Given the description of an element on the screen output the (x, y) to click on. 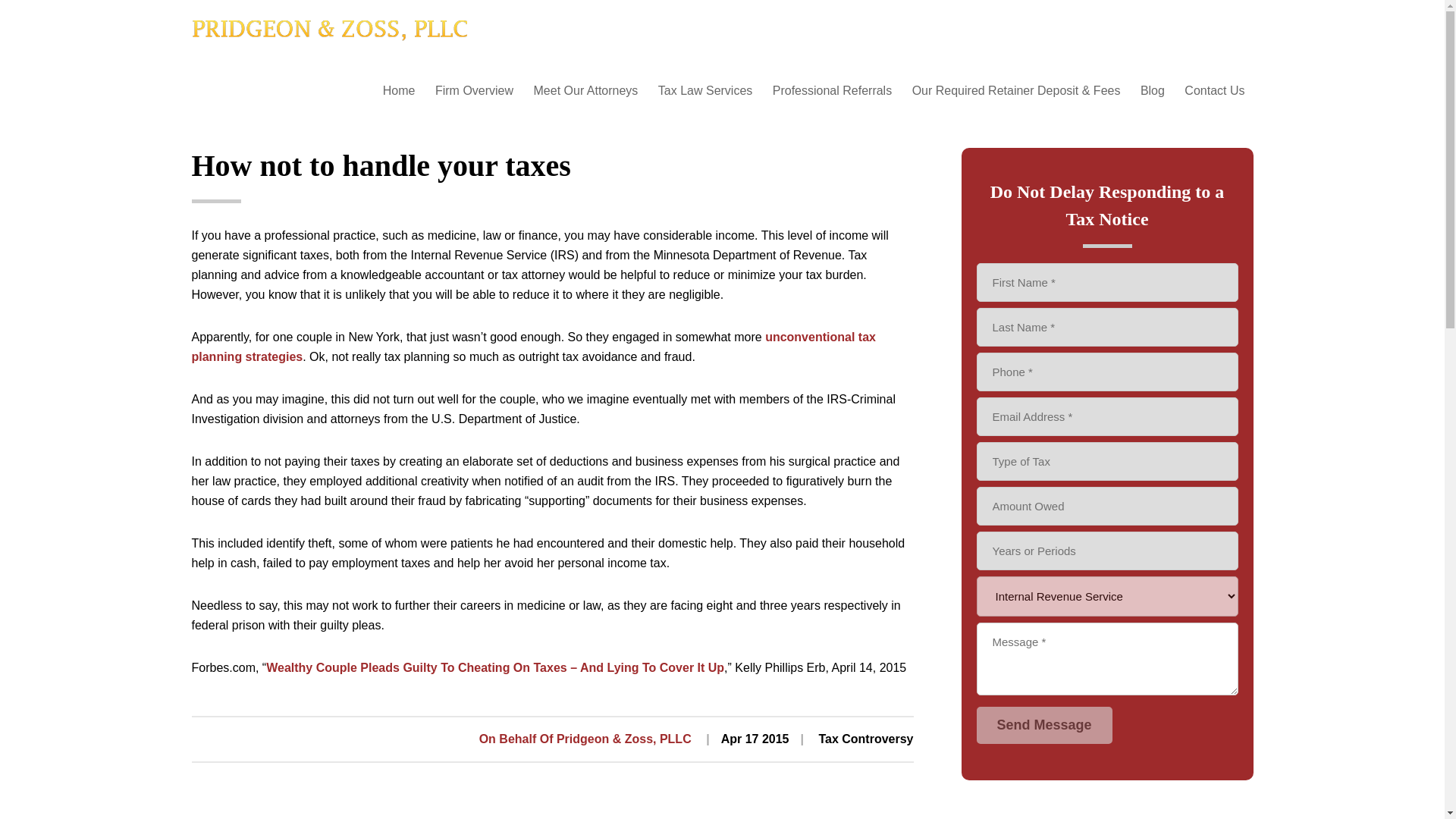
Send Message (1044, 724)
Home (207, 75)
Send Message (1044, 724)
Meet Our Attorneys (585, 91)
Tax Law Services (705, 91)
unconventional tax planning strategies (532, 346)
Firm Overview (473, 91)
Contact Us (1214, 91)
Tax Controversy (865, 738)
